Given the description of an element on the screen output the (x, y) to click on. 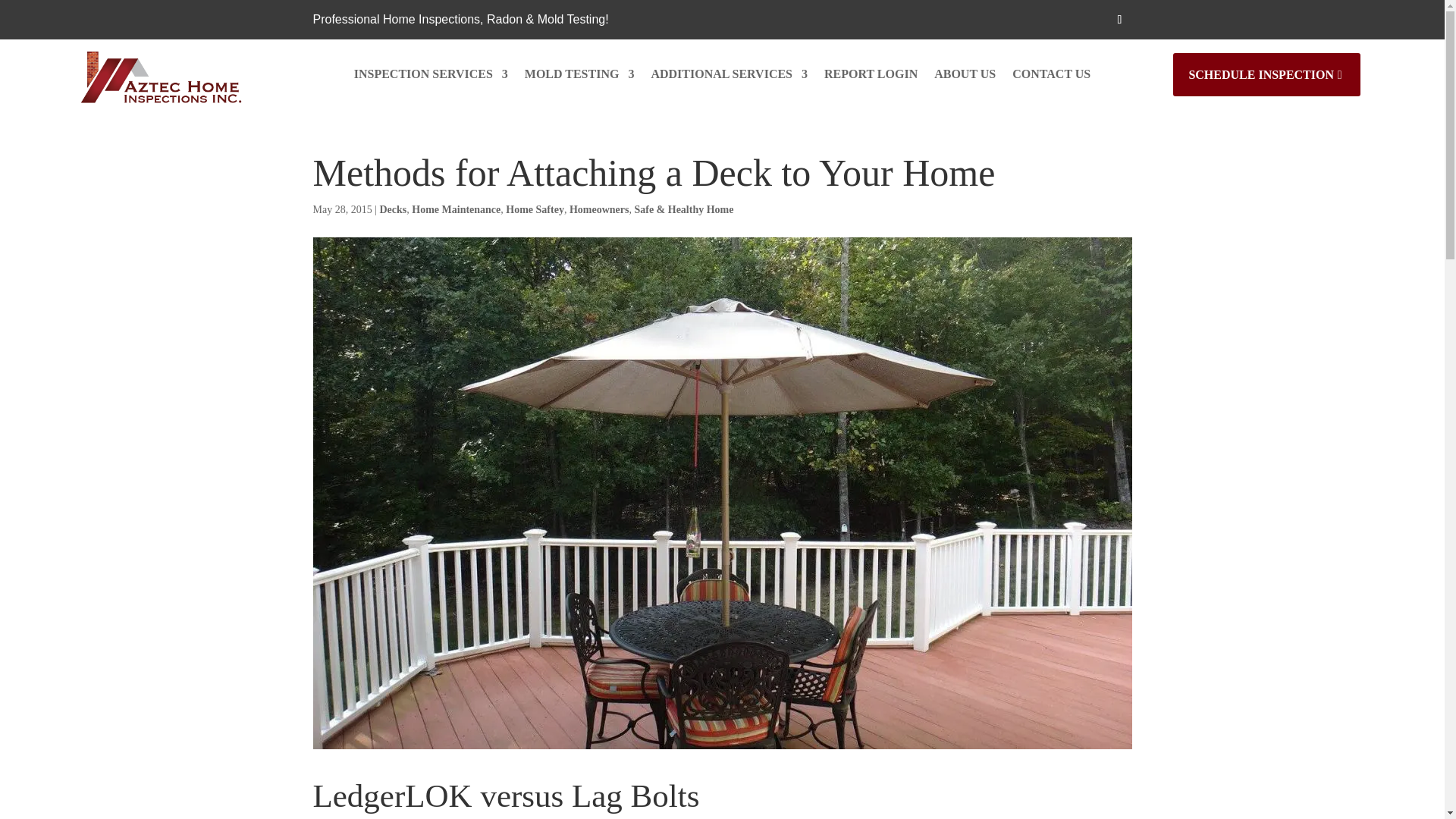
Follow on Facebook (1118, 19)
REPORT LOGIN (870, 76)
Decks (392, 209)
Home Maintenance (456, 209)
SCHEDULE INSPECTION (1266, 74)
ABOUT US (964, 76)
MOLD TESTING (579, 76)
ADDITIONAL SERVICES (729, 76)
INSPECTION SERVICES (430, 76)
CONTACT US (1050, 76)
